Given the description of an element on the screen output the (x, y) to click on. 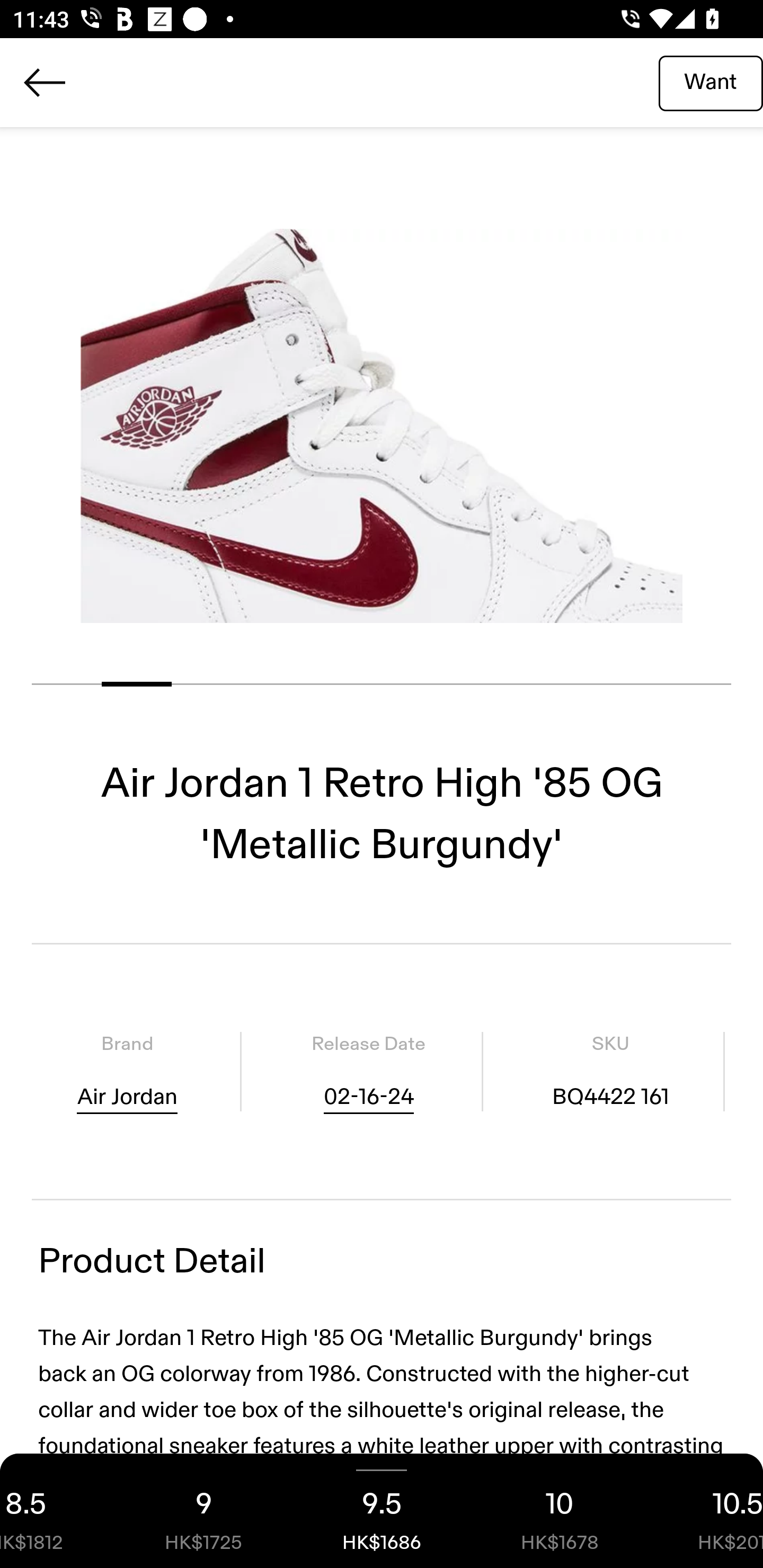
Want (710, 82)
Brand Air Jordan (126, 1070)
Release Date 02-16-24 (368, 1070)
SKU BQ4422 161 (609, 1070)
8.5 HK$1812 (57, 1510)
9 HK$1725 (203, 1510)
9.5 HK$1686 (381, 1510)
10 HK$1678 (559, 1510)
10.5 HK$2010 (705, 1510)
